Given the description of an element on the screen output the (x, y) to click on. 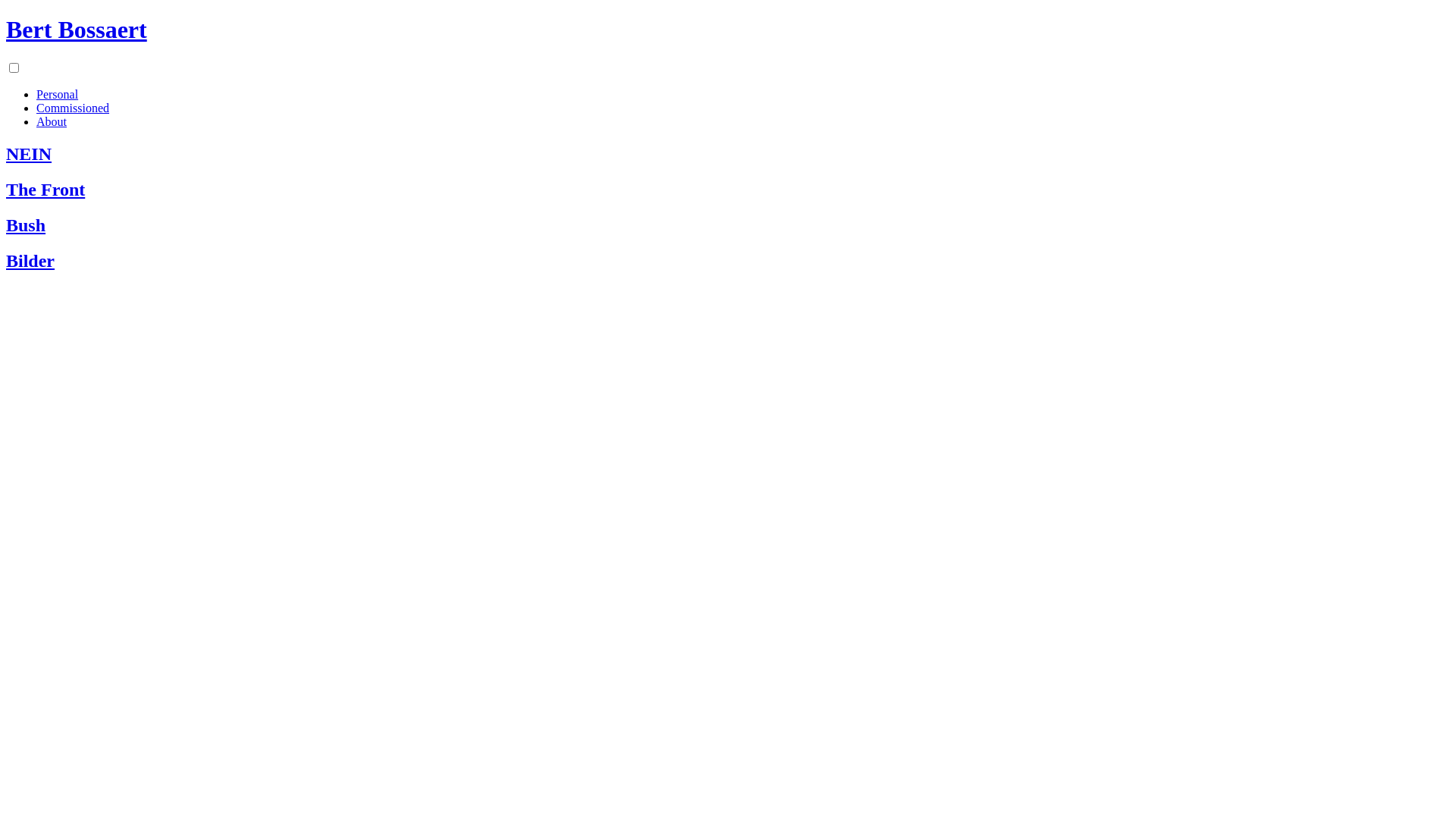
Bert Bossaert Element type: text (76, 29)
NEIN Element type: text (727, 154)
Commissioned Element type: text (72, 107)
Bush Element type: text (727, 225)
About Element type: text (51, 121)
Bilder Element type: text (727, 260)
Personal Element type: text (57, 93)
The Front Element type: text (727, 189)
